Given the description of an element on the screen output the (x, y) to click on. 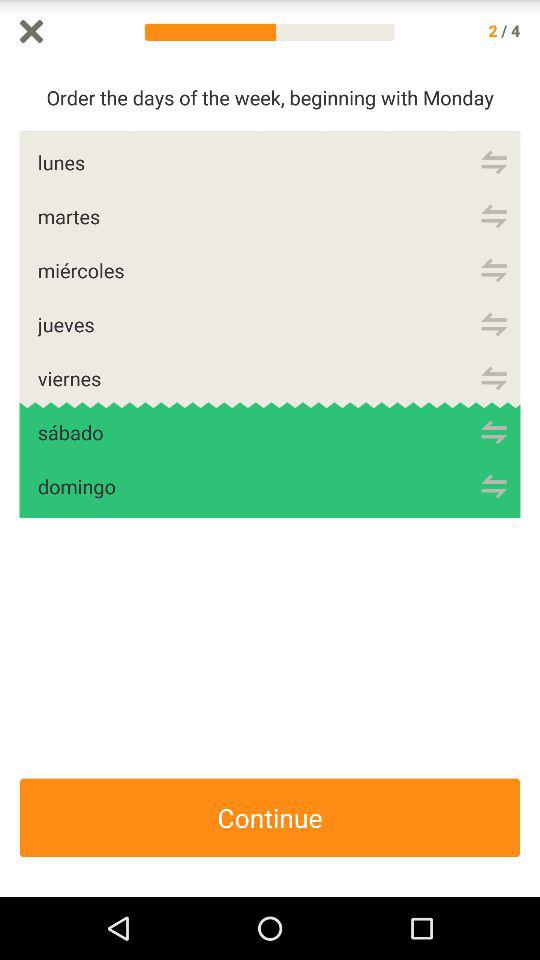
click to choose friday (494, 378)
